Given the description of an element on the screen output the (x, y) to click on. 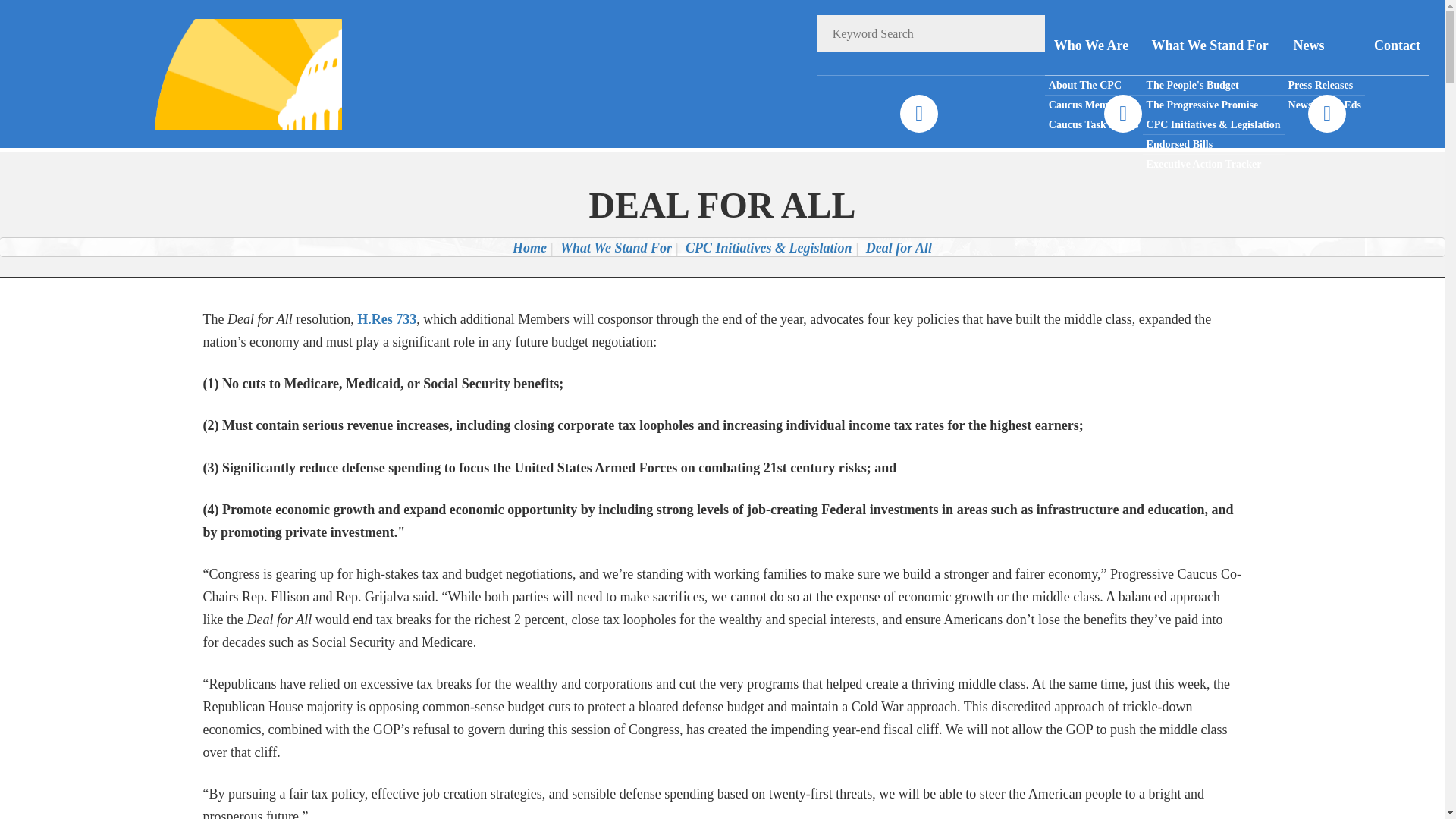
Press Releases (1324, 85)
Go (1026, 33)
DEAL FOR ALL (722, 205)
Deal for All (898, 247)
Contact (1397, 45)
Who We Are (1093, 45)
News (1324, 45)
What We Stand For (615, 247)
H.Res 733 (386, 319)
What We Stand For (1213, 45)
